Given the description of an element on the screen output the (x, y) to click on. 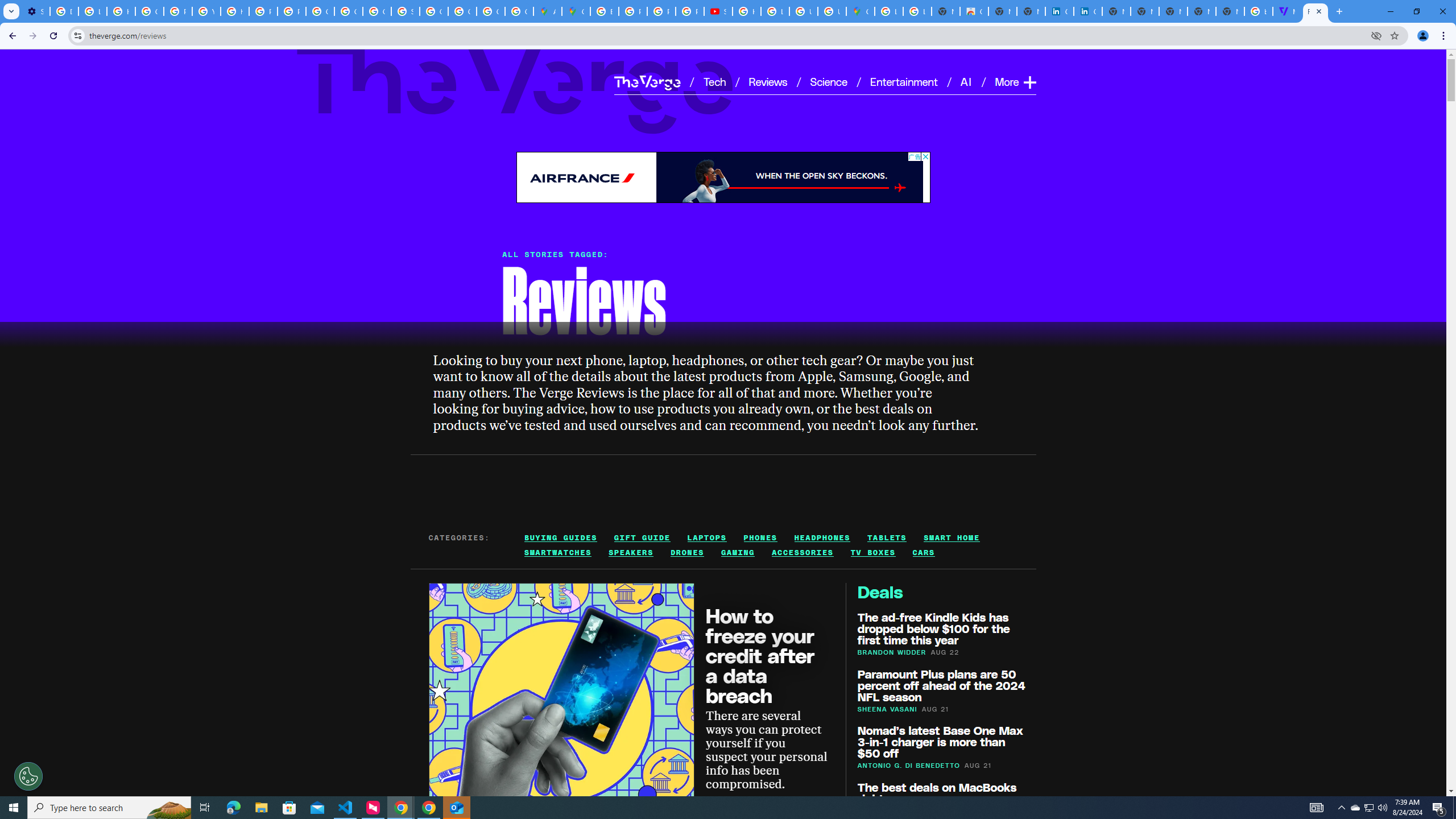
The Verge (646, 82)
The best deals on MacBooks right now (936, 792)
SPEAKERS (630, 552)
Reviews (767, 81)
Expand (1029, 81)
AutomationID: cbb (925, 156)
Tech (714, 81)
Chrome Web Store (973, 11)
PHONES (760, 537)
GAMING (737, 552)
